Given the description of an element on the screen output the (x, y) to click on. 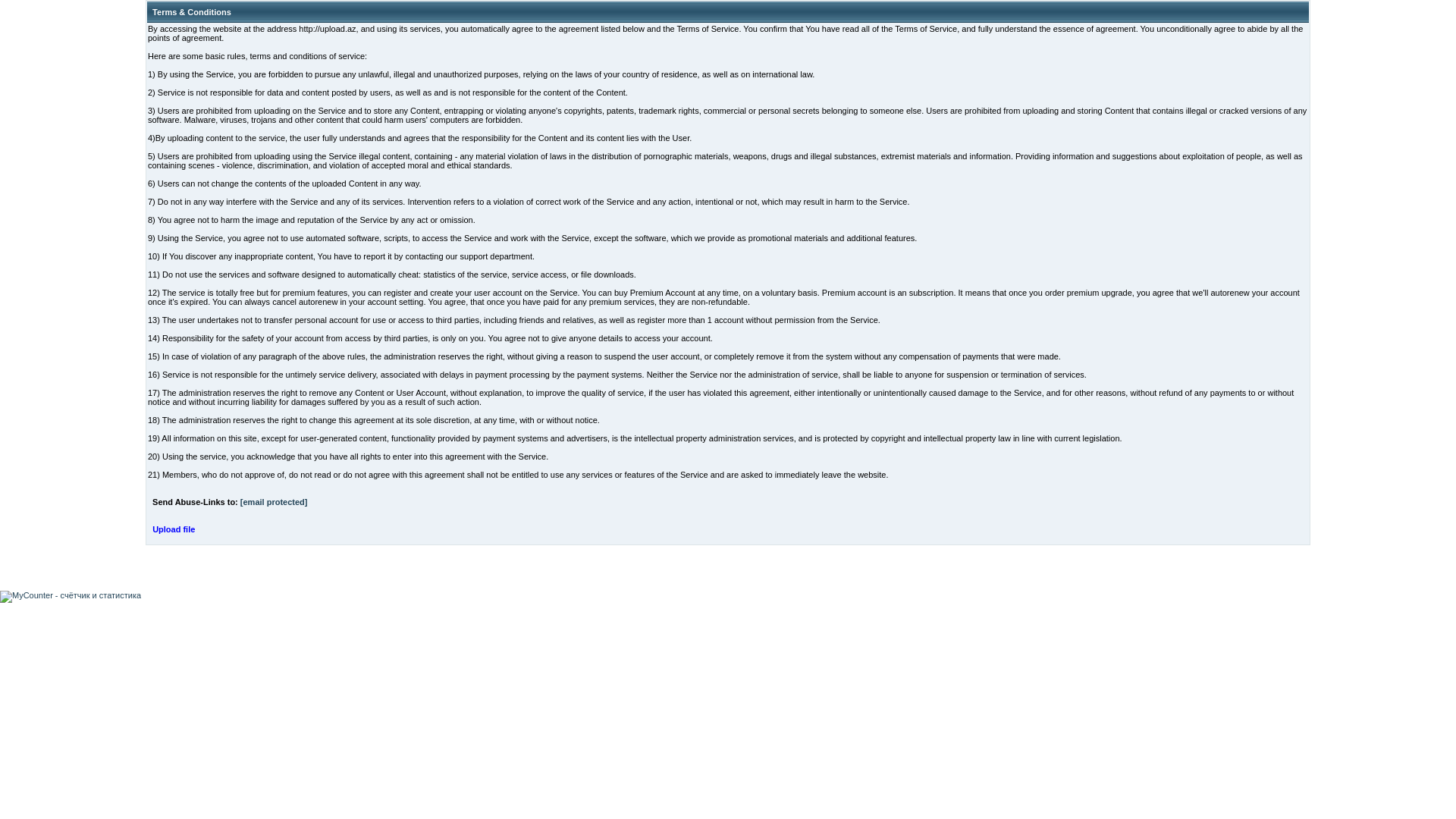
[email protected] Element type: text (273, 501)
Upload file Element type: text (173, 528)
